Given the description of an element on the screen output the (x, y) to click on. 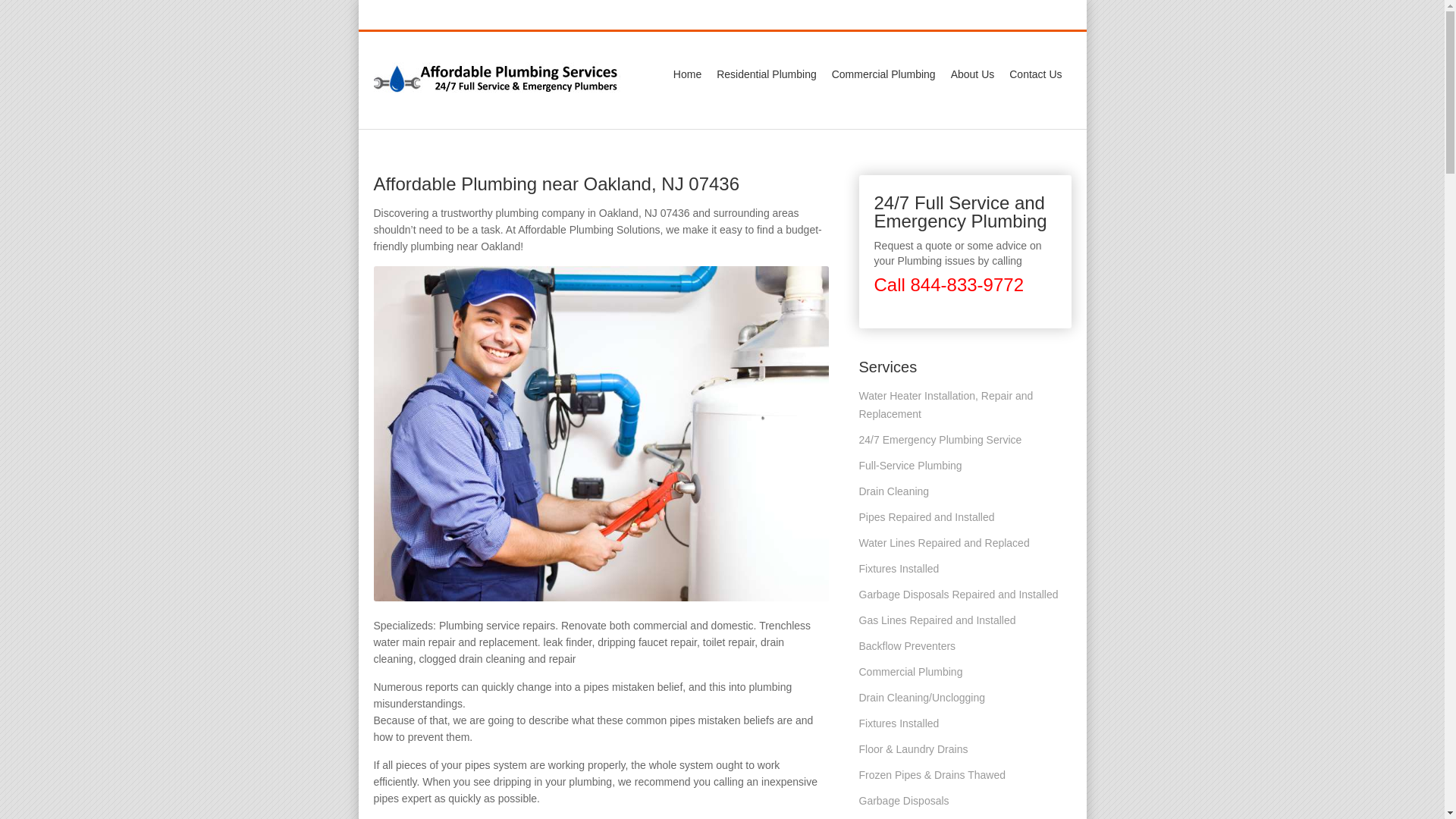
Home (686, 74)
Residential Plumbing (766, 74)
844-833-9772 (897, 15)
About Us (972, 74)
Commercial Plumbing (883, 74)
Contact Us (1035, 74)
